Given the description of an element on the screen output the (x, y) to click on. 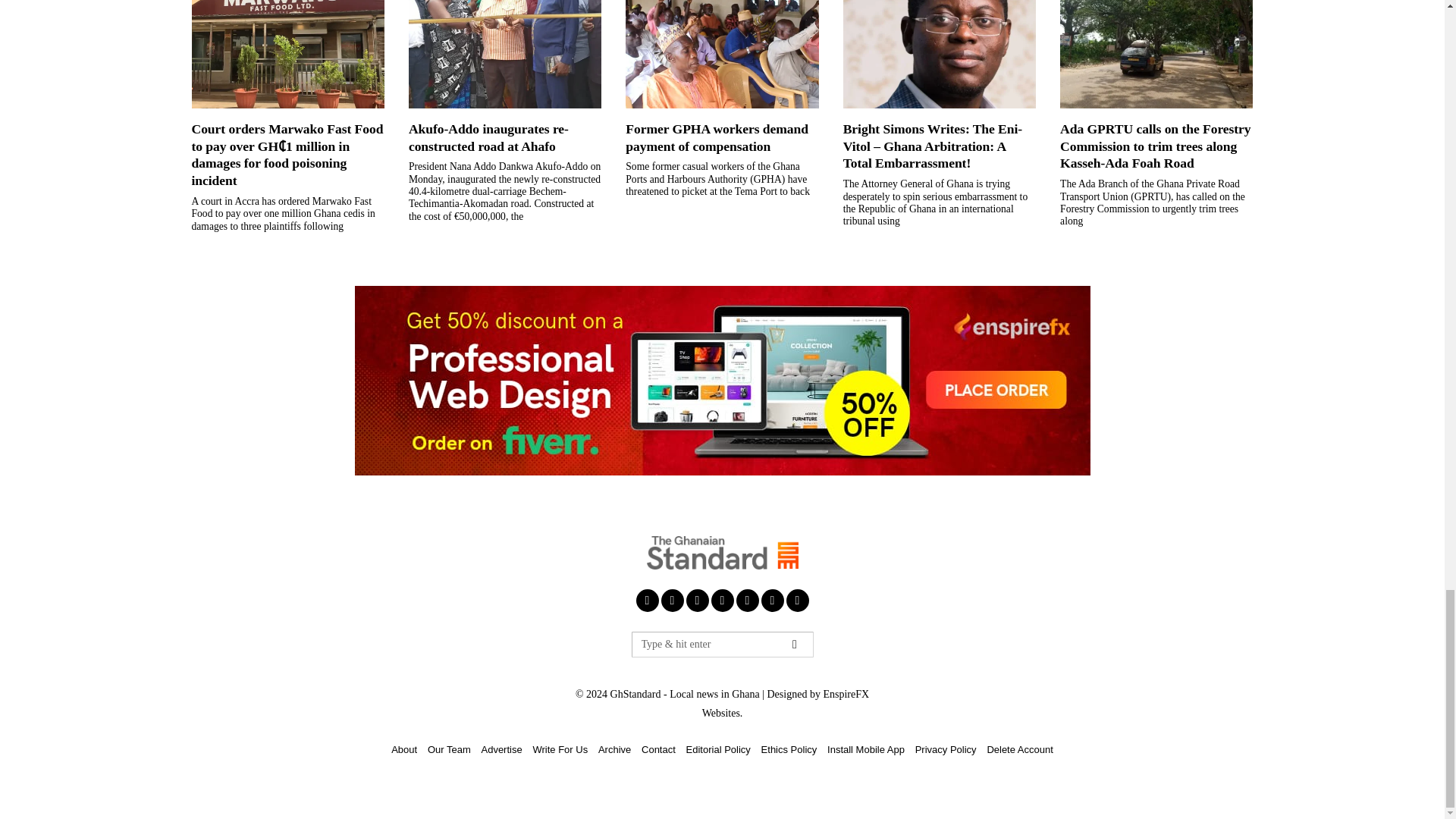
Go (794, 644)
